Given the description of an element on the screen output the (x, y) to click on. 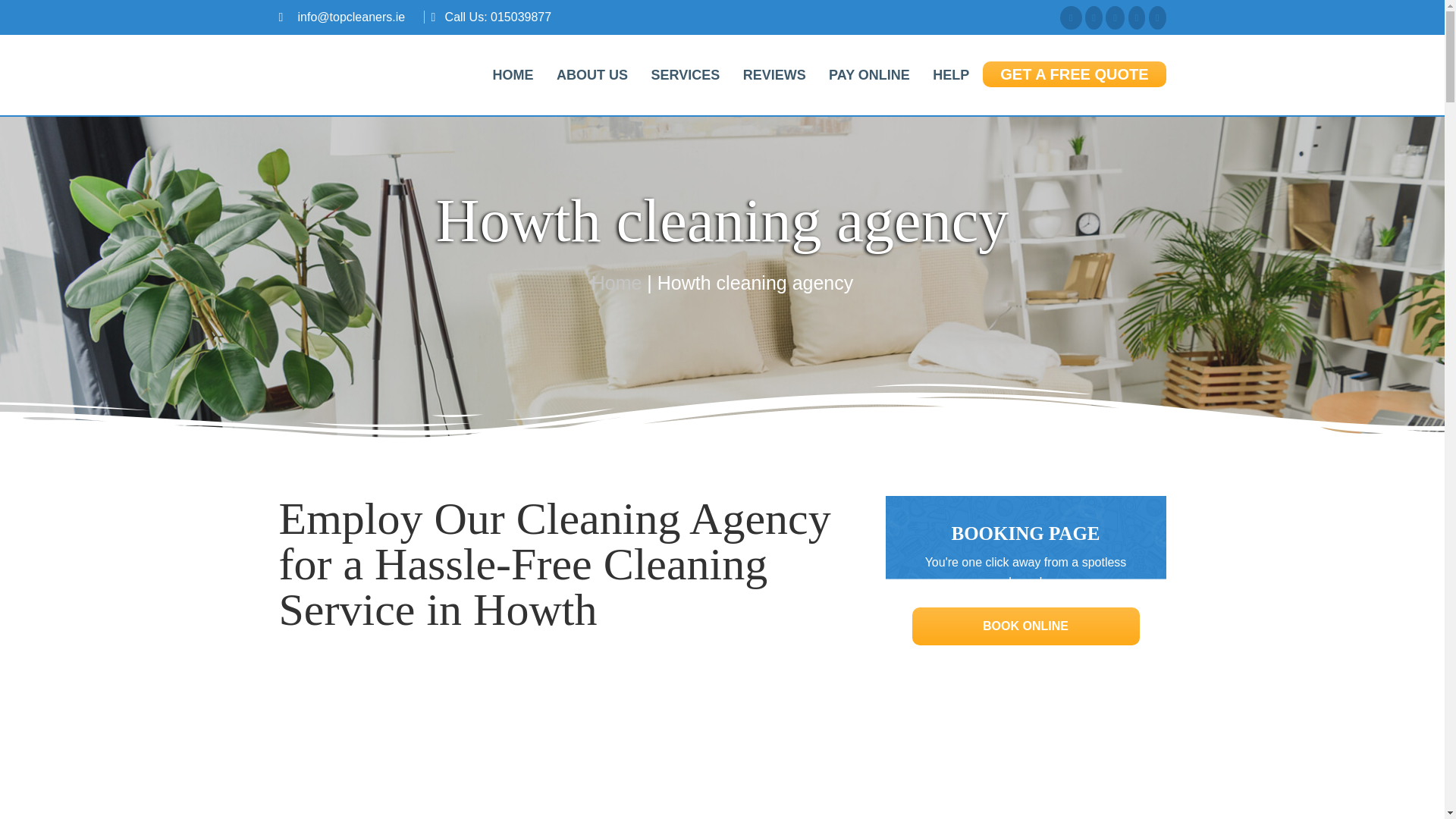
Call Us: 015039877 (498, 16)
Home (616, 282)
HOME (513, 74)
BOOK ONLINE (1025, 625)
ABOUT US (592, 74)
PAY ONLINE (869, 74)
GET A FREE QUOTE (1074, 73)
BOOK ONLINE (1024, 626)
REVIEWS (774, 74)
SERVICES (684, 74)
HELP (950, 74)
